Given the description of an element on the screen output the (x, y) to click on. 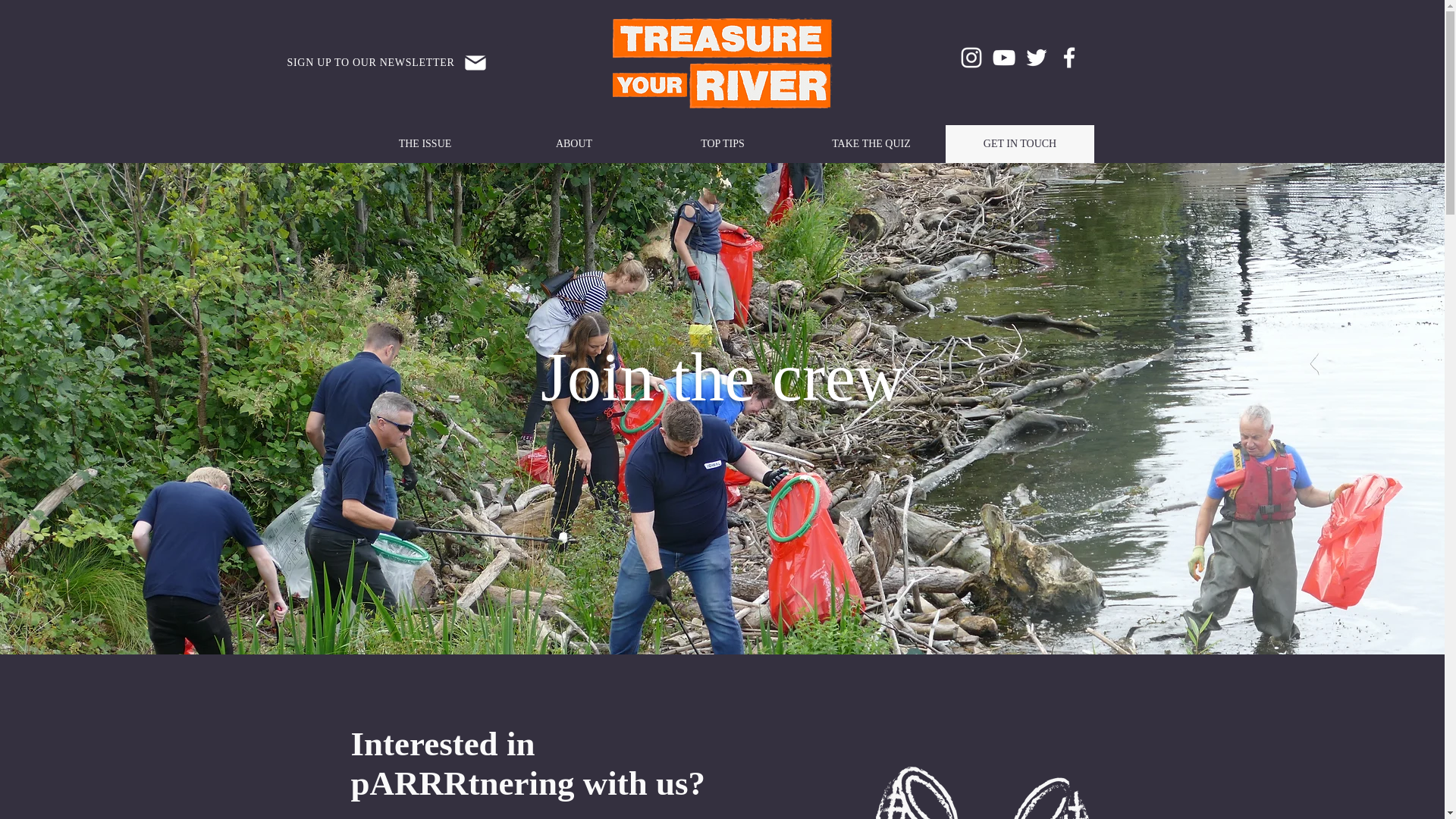
TOP TIPS (721, 143)
THE ISSUE (424, 143)
SIGN UP TO OUR NEWSLETTER (386, 62)
GET IN TOUCH (1018, 143)
ABOUT (573, 143)
TAKE THE QUIZ (870, 143)
